Given the description of an element on the screen output the (x, y) to click on. 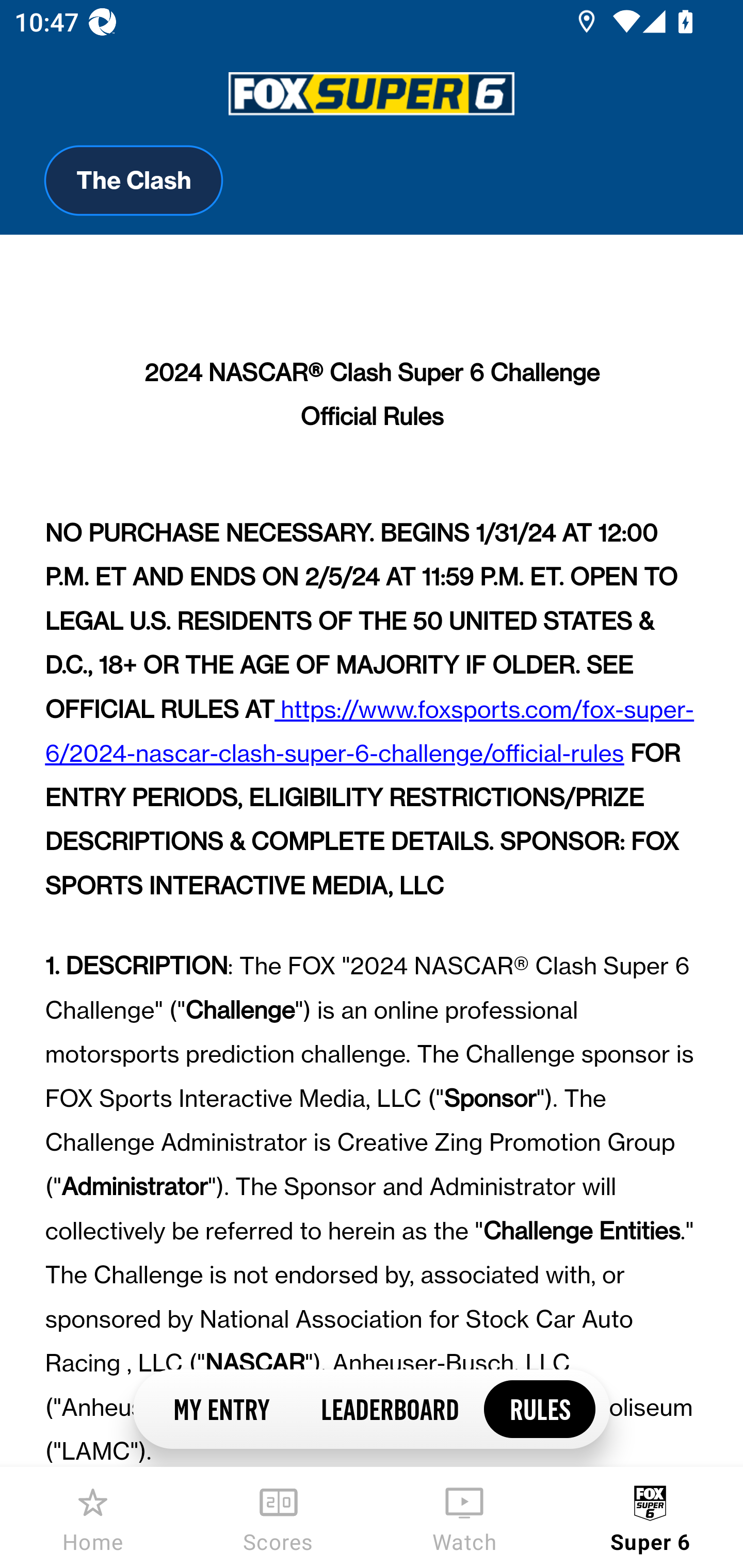
MY ENTRY (220, 1408)
LEADERBOARD (388, 1408)
Home (92, 1517)
Scores (278, 1517)
Watch (464, 1517)
